Given the description of an element on the screen output the (x, y) to click on. 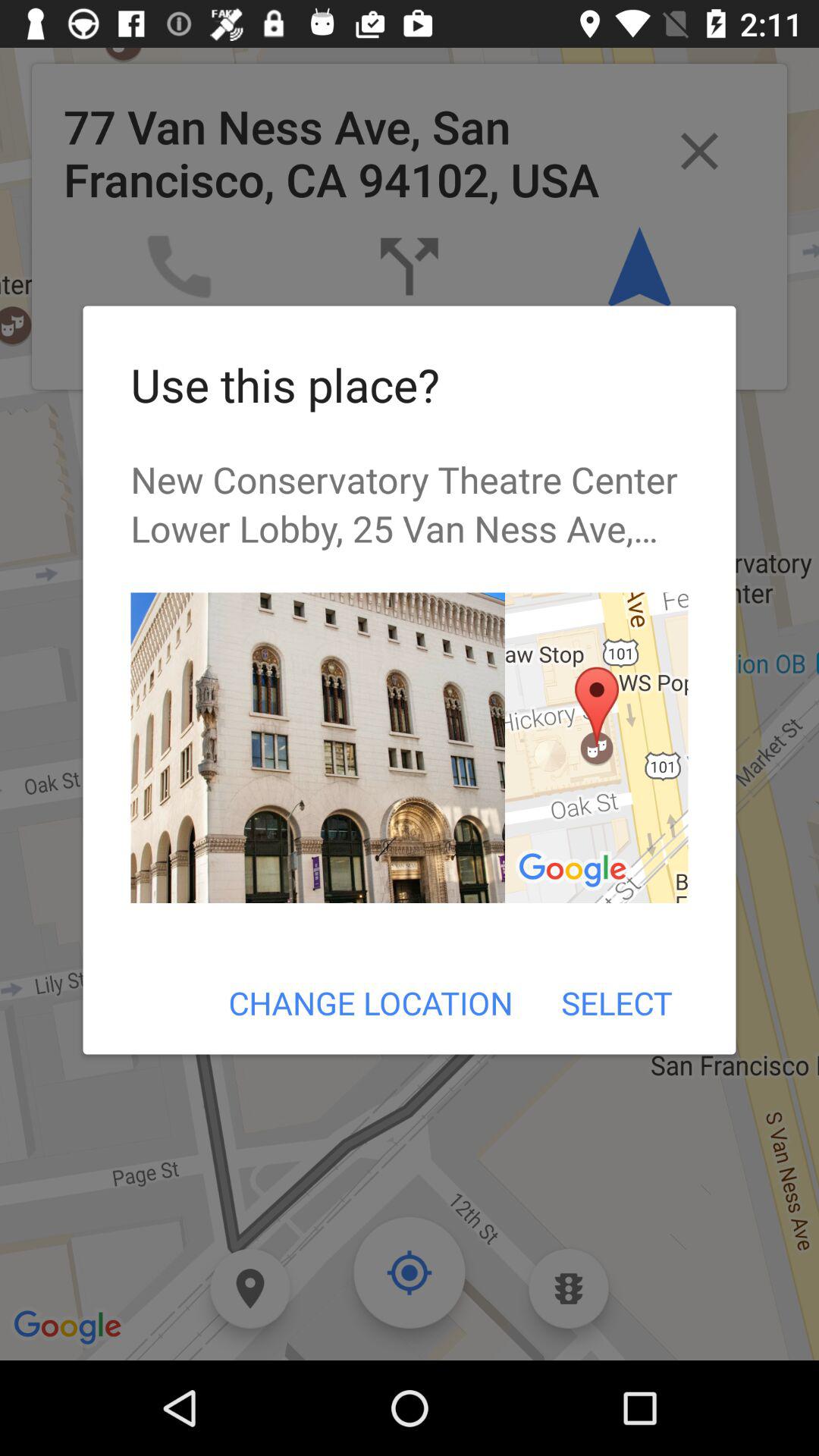
choose item next to the select item (370, 1002)
